Given the description of an element on the screen output the (x, y) to click on. 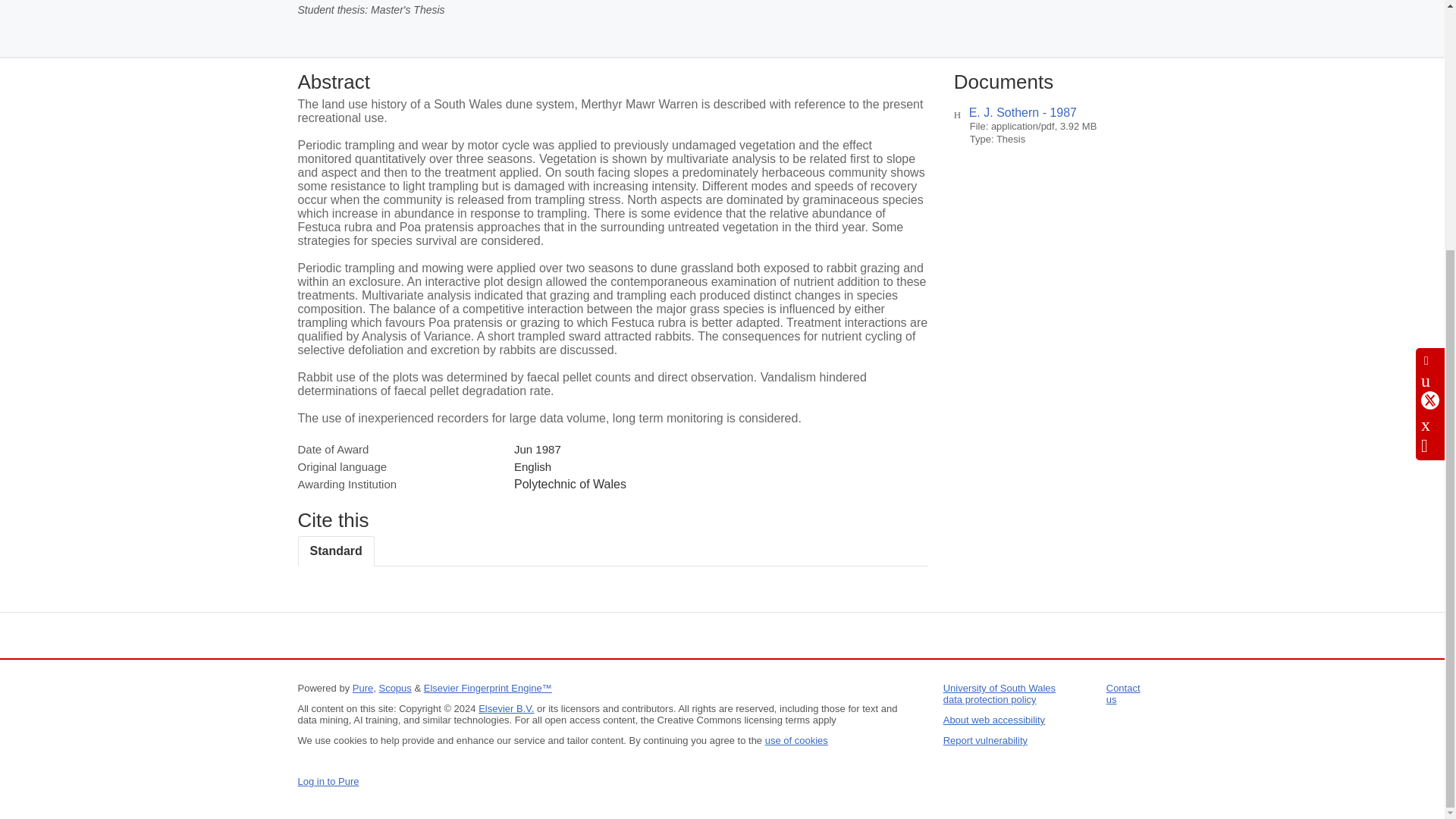
use of cookies (796, 740)
Elsevier B.V. (506, 708)
University of South Wales data protection policy (999, 693)
Scopus (394, 687)
Contact us (1123, 693)
About web accessibility (994, 719)
Log in to Pure (327, 781)
Pure (362, 687)
Report vulnerability (985, 740)
E. J. Sothern - 1987 (1023, 112)
